Given the description of an element on the screen output the (x, y) to click on. 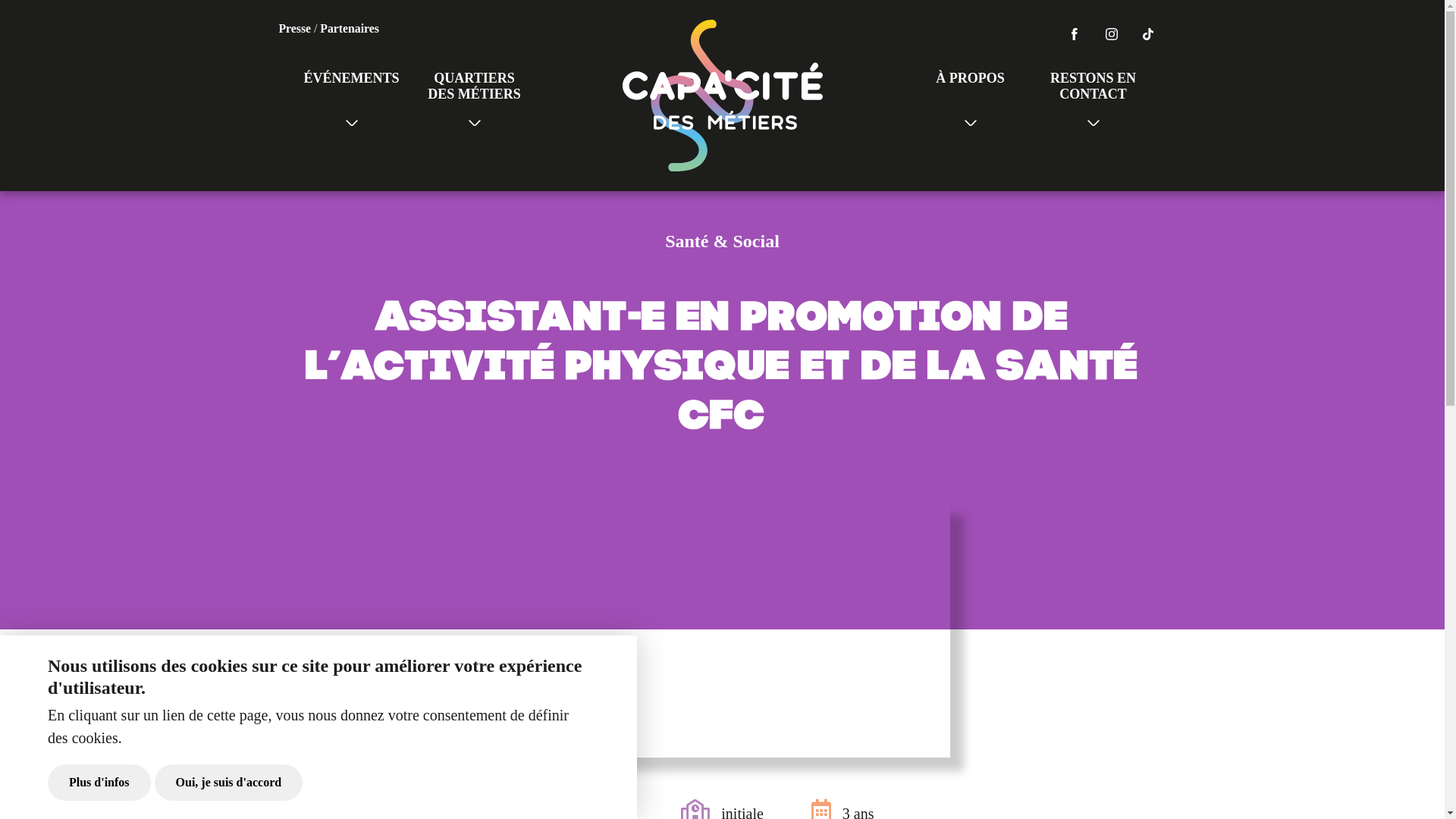
Oui, je suis d'accord Element type: text (228, 782)
Presse Element type: text (295, 27)
Partenaires Element type: text (349, 27)
RESTONS EN CONTACT Element type: text (1092, 94)
Plus d'infos Element type: text (98, 782)
